Given the description of an element on the screen output the (x, y) to click on. 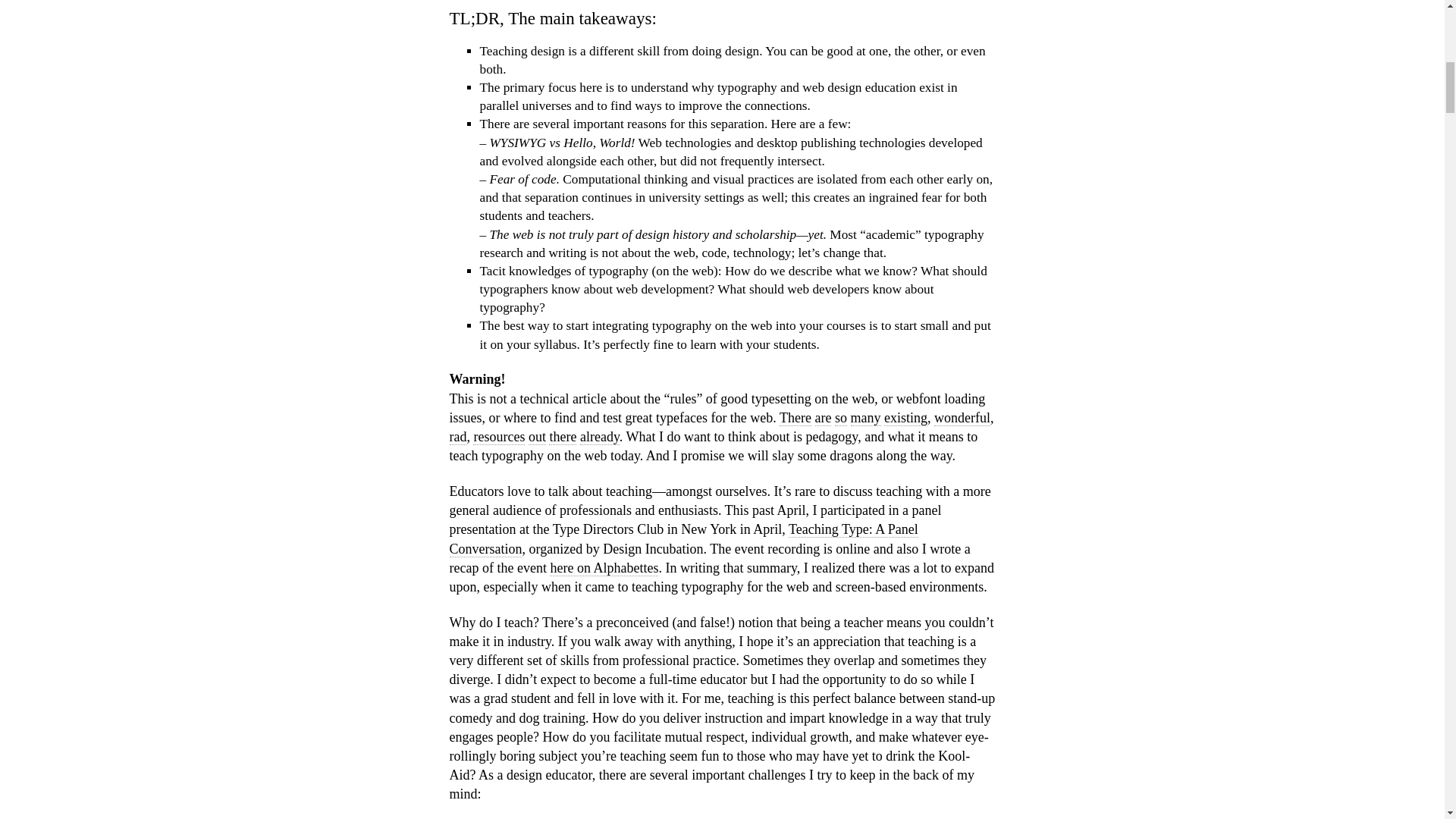
There (794, 417)
are (822, 417)
existing (905, 417)
wonderful (962, 417)
rad (456, 437)
many (865, 417)
